Given the description of an element on the screen output the (x, y) to click on. 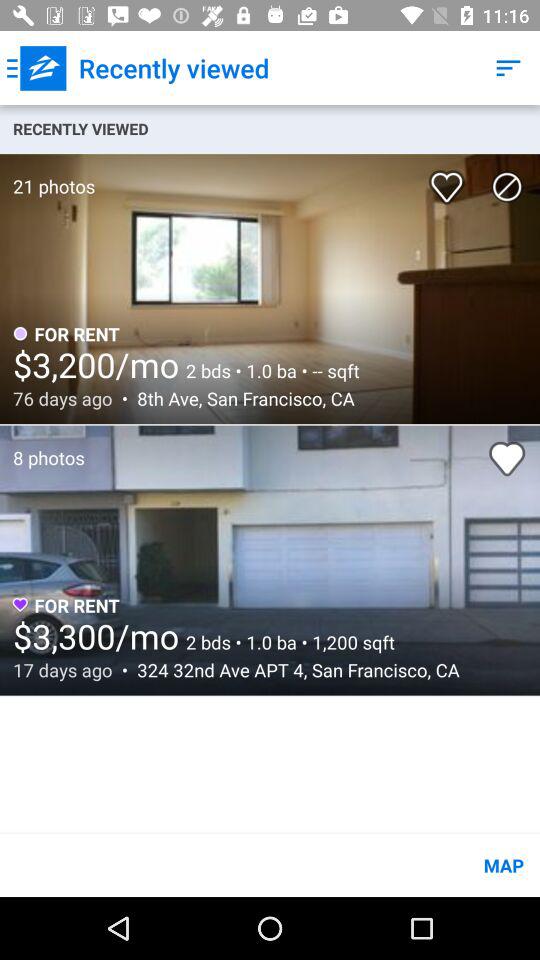
tap 21 photos (47, 176)
